Given the description of an element on the screen output the (x, y) to click on. 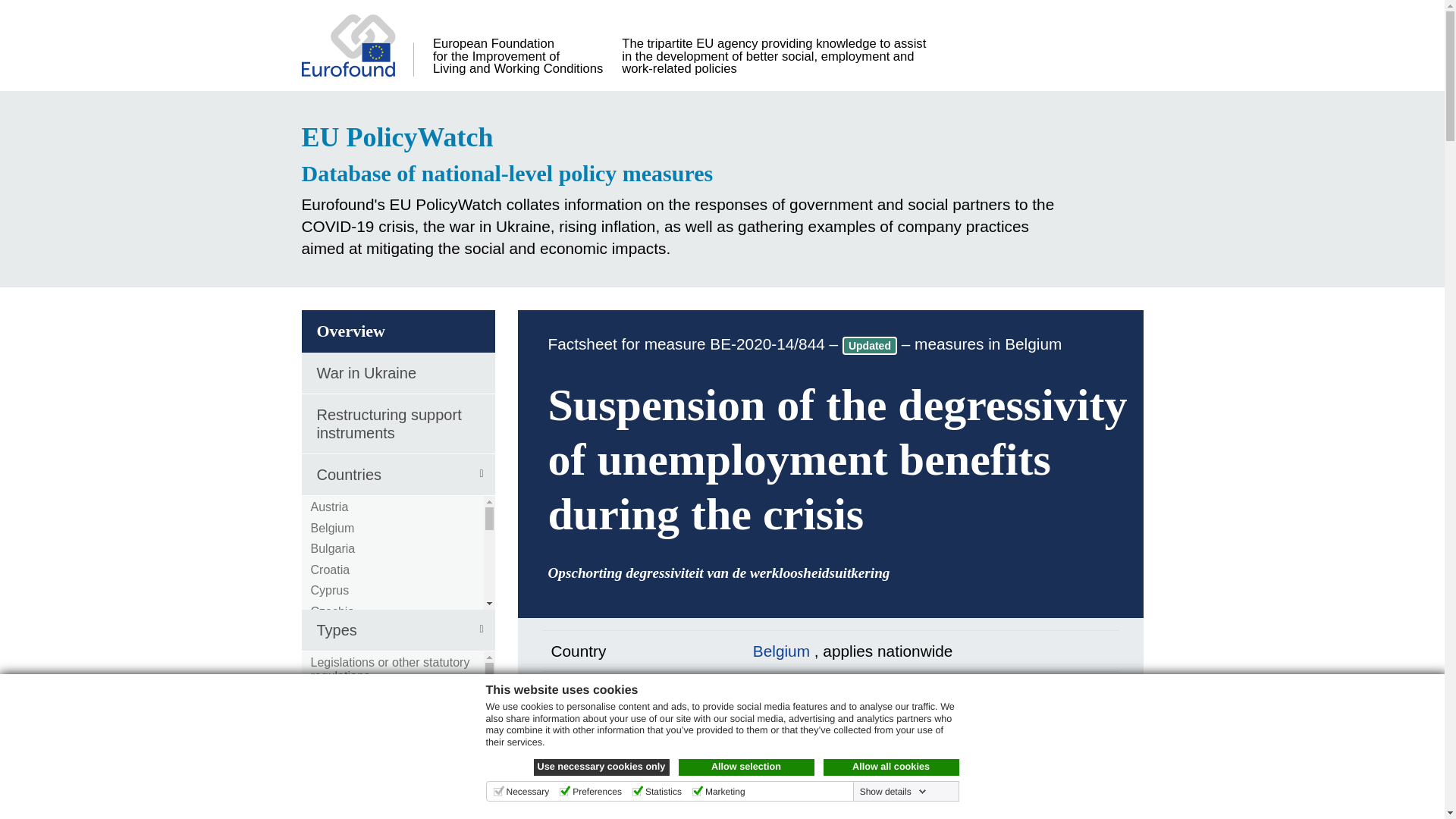
Show details (893, 791)
Restructuring support instruments (398, 423)
Allow selection (745, 767)
Belgium (333, 527)
Austria (330, 506)
Countries (398, 475)
Overview (398, 331)
Types (398, 630)
